Given the description of an element on the screen output the (x, y) to click on. 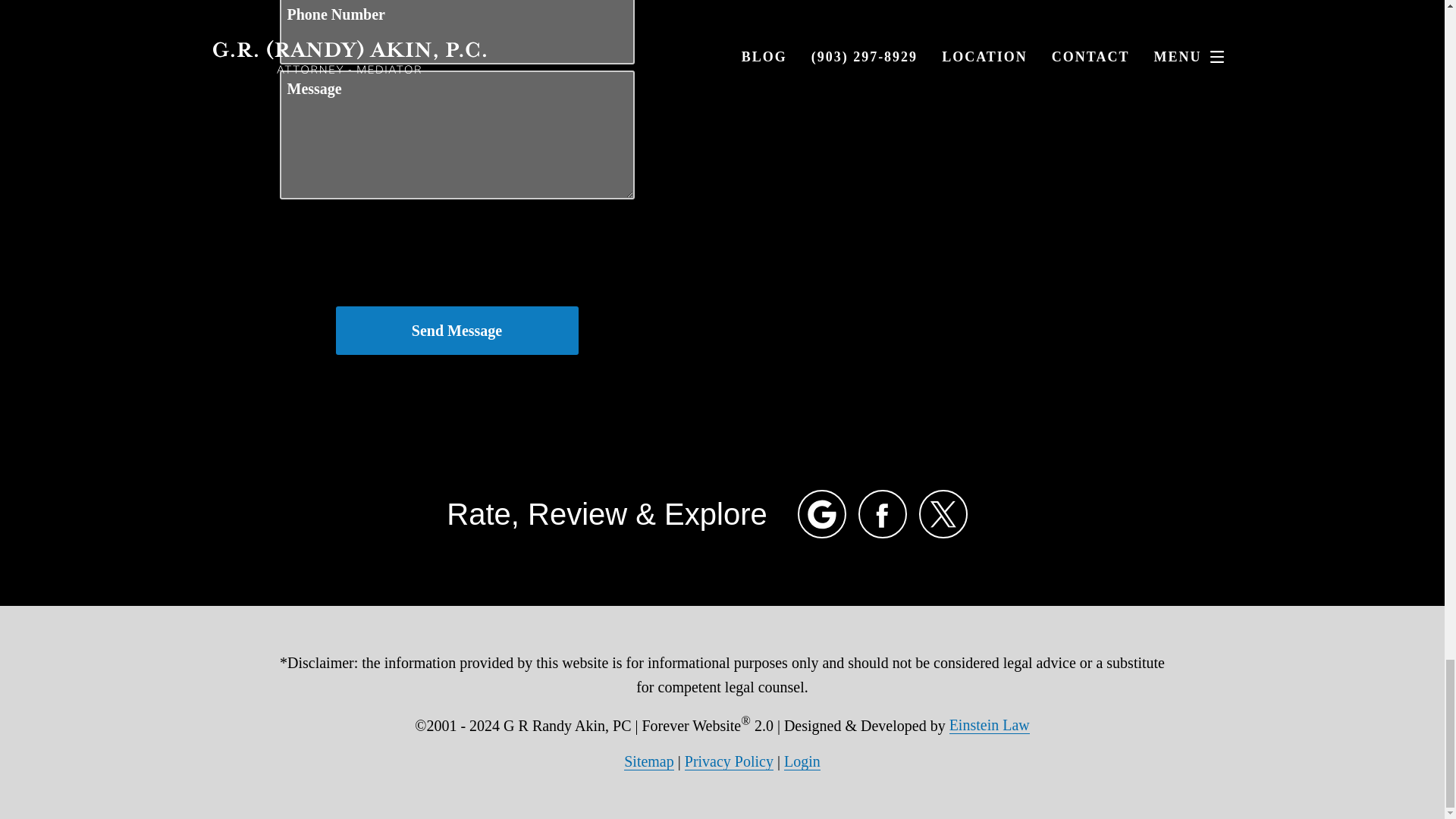
Sitemap (649, 761)
Login (802, 761)
Twitter (943, 513)
Privacy Policy (728, 761)
Facebook (883, 513)
Send Message (456, 330)
Google (821, 513)
Einstein Law (989, 724)
